Given the description of an element on the screen output the (x, y) to click on. 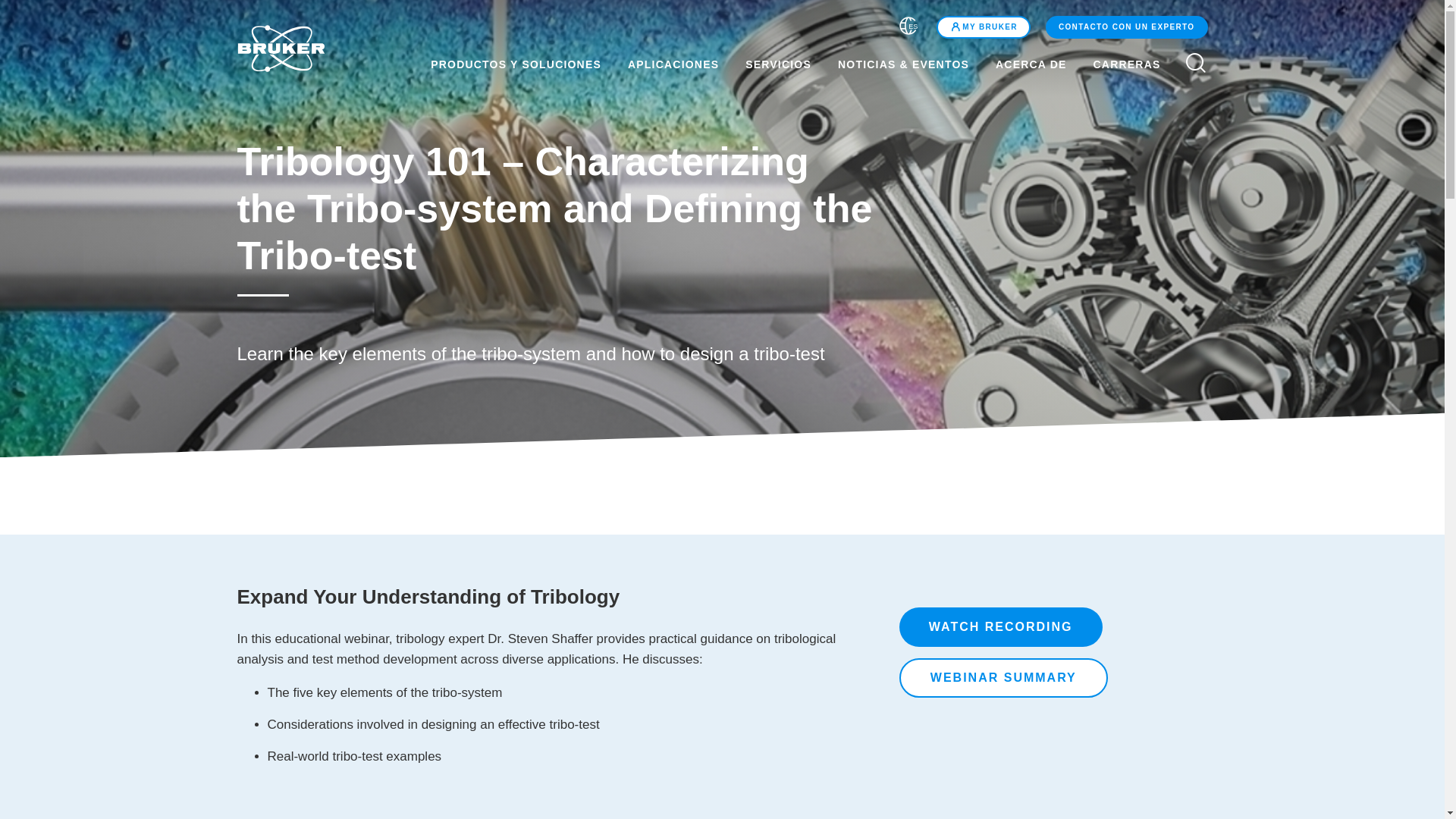
WATCH RECORDING (1000, 627)
CONTACTO CON UN EXPERTO (1125, 27)
CARRERAS (1136, 64)
SERVICIOS (778, 64)
ES (908, 27)
MY BRUKER (983, 26)
PRODUCTOS Y SOLUCIONES (506, 64)
APLICACIONES (673, 64)
ACERCA DE (1030, 64)
CONTACTO CON UN EXPERTO (1126, 26)
WEBINAR SUMMARY (1003, 677)
